Given the description of an element on the screen output the (x, y) to click on. 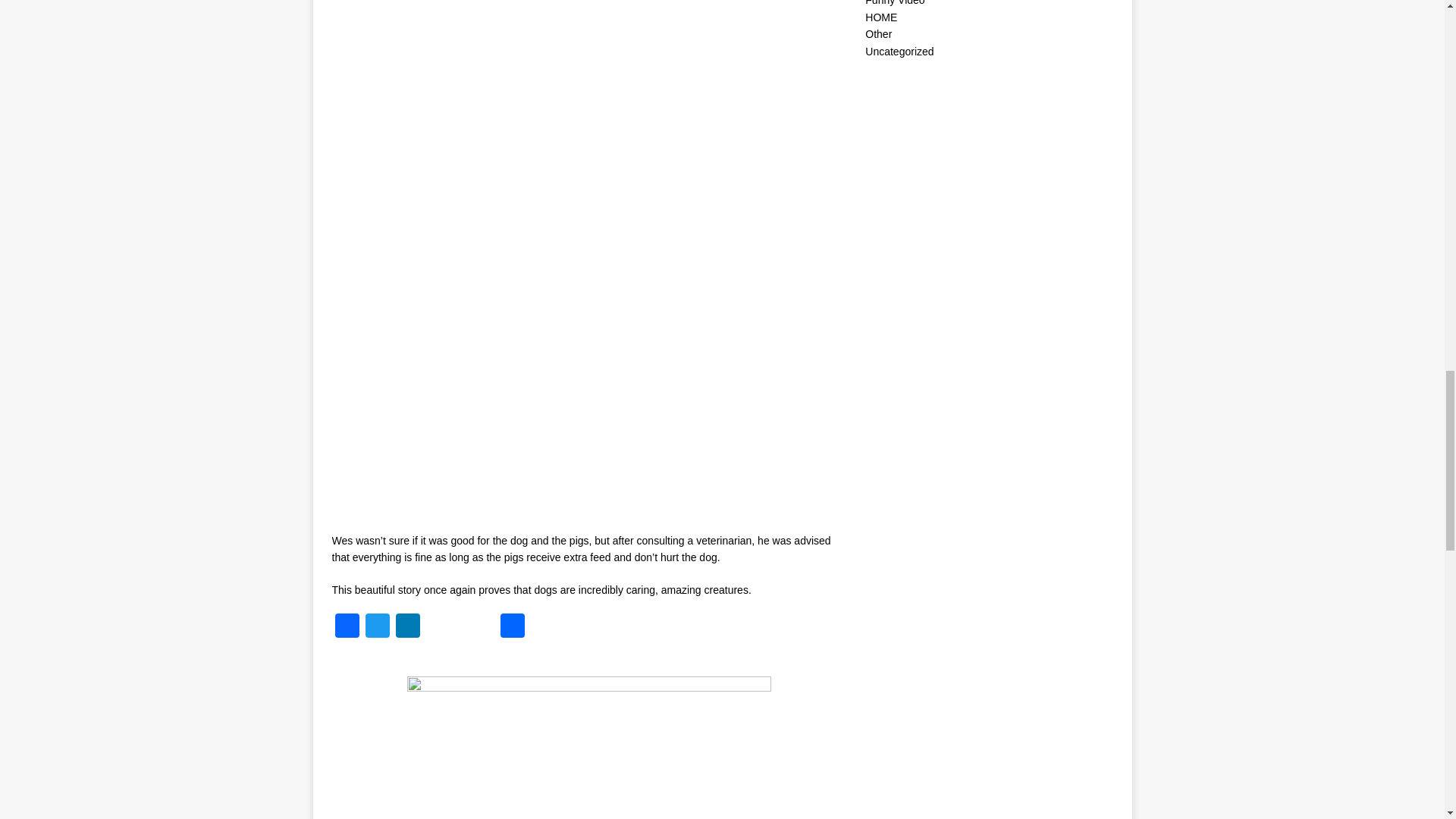
Facebook (346, 627)
Twitter (377, 627)
Twitter (377, 627)
Share (512, 627)
Facebook (346, 627)
LinkedIn (408, 627)
LinkedIn (408, 627)
